Given the description of an element on the screen output the (x, y) to click on. 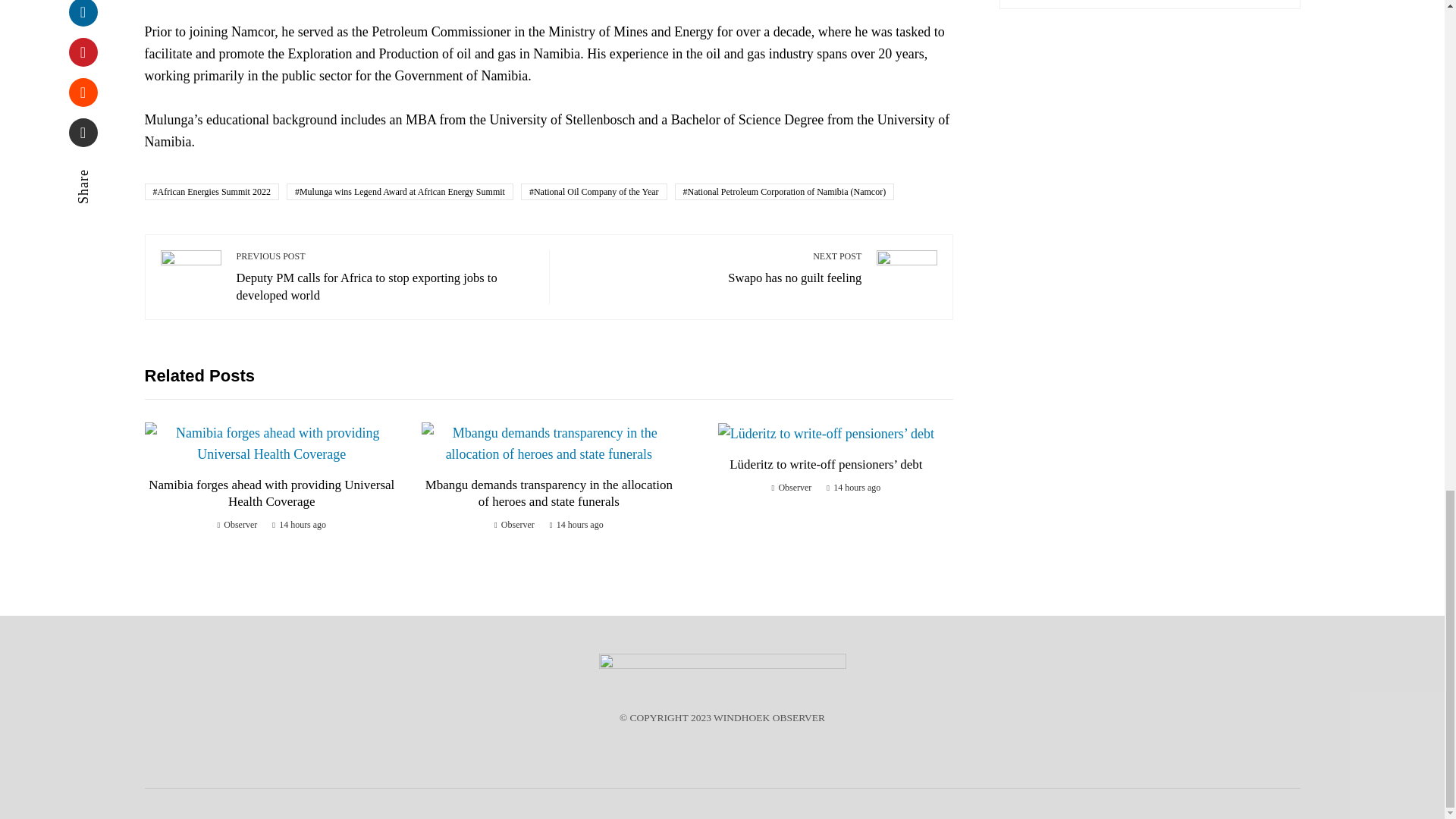
African Energies Summit 2022 (211, 191)
Mulunga wins Legend Award at African Energy Summit (399, 191)
National Oil Company of the Year (593, 191)
